Given the description of an element on the screen output the (x, y) to click on. 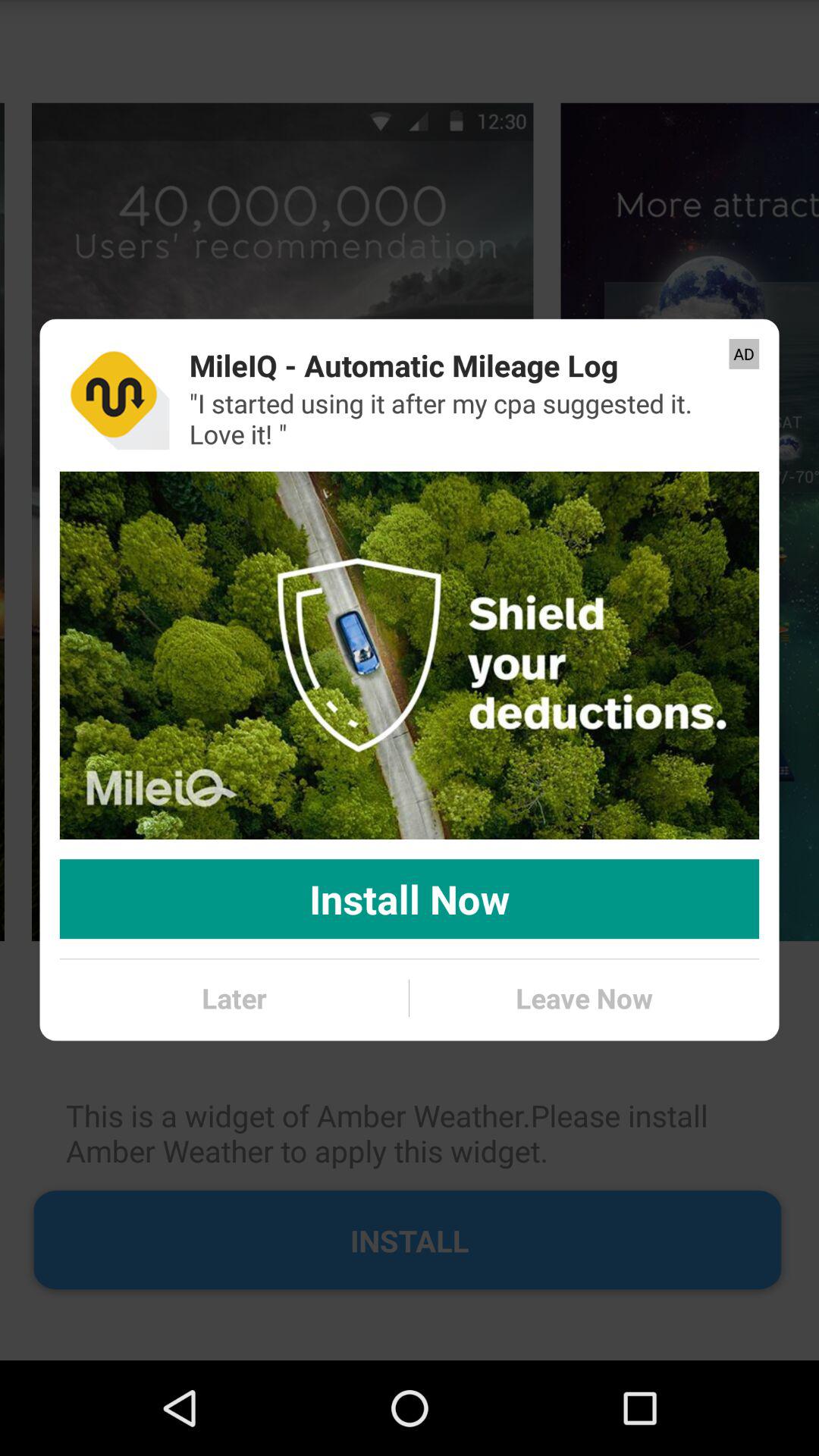
press the i started using (464, 418)
